Given the description of an element on the screen output the (x, y) to click on. 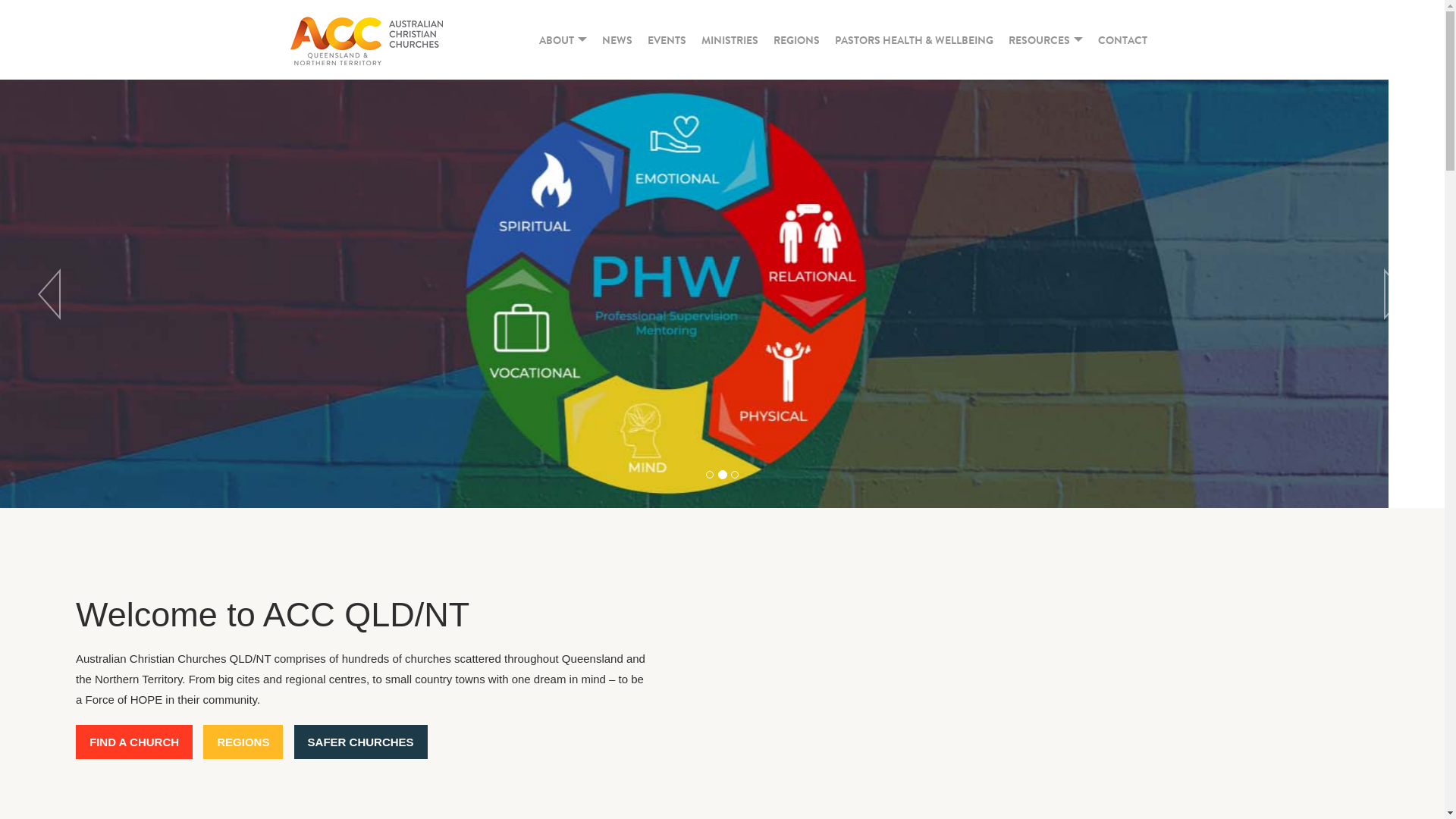
SAFER CHURCHES Element type: text (360, 741)
RESOURCES Element type: text (1045, 39)
MINISTRIES Element type: text (729, 39)
FIND A CHURCH Element type: text (133, 741)
NEWS Element type: text (617, 39)
PASTORS HEALTH & WELLBEING Element type: text (913, 39)
REGIONS Element type: text (796, 39)
EVENTS Element type: text (666, 39)
ABOUT Element type: text (561, 39)
CONTACT Element type: text (1122, 39)
REGIONS Element type: text (242, 741)
